Given the description of an element on the screen output the (x, y) to click on. 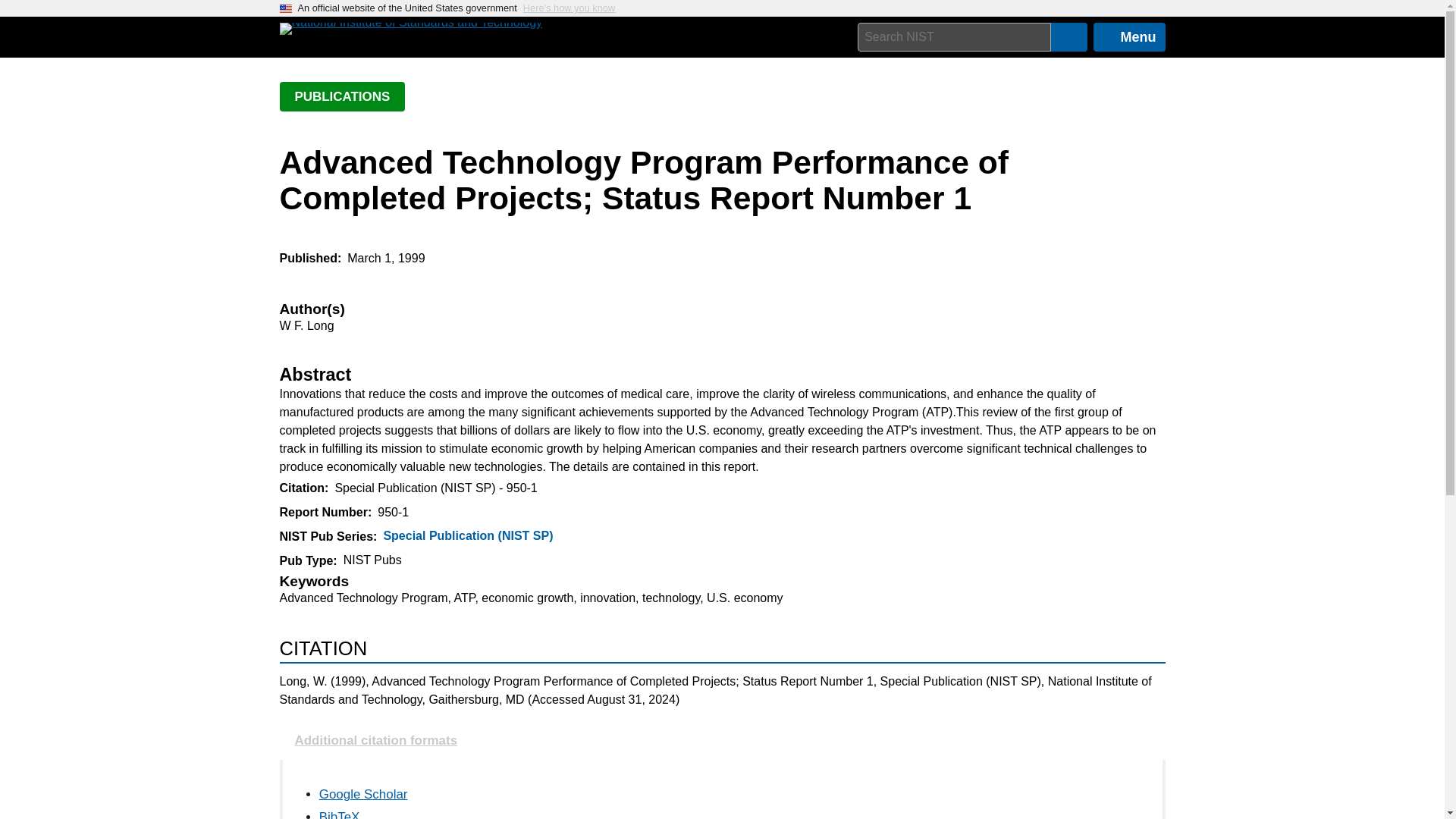
Menu (1129, 36)
National Institute of Standards and Technology (410, 28)
